Given the description of an element on the screen output the (x, y) to click on. 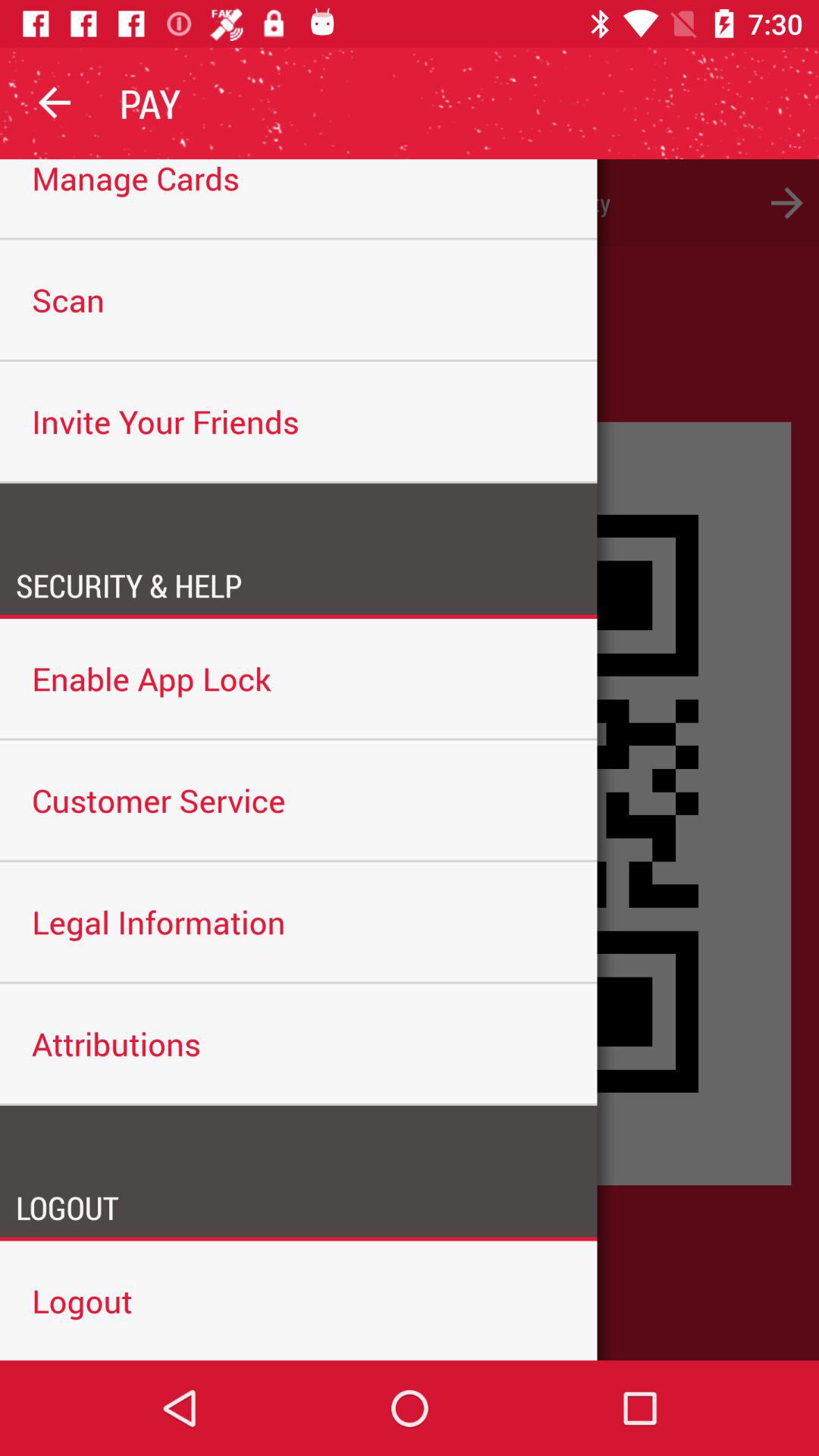
launch the enable app lock icon (298, 678)
